Given the description of an element on the screen output the (x, y) to click on. 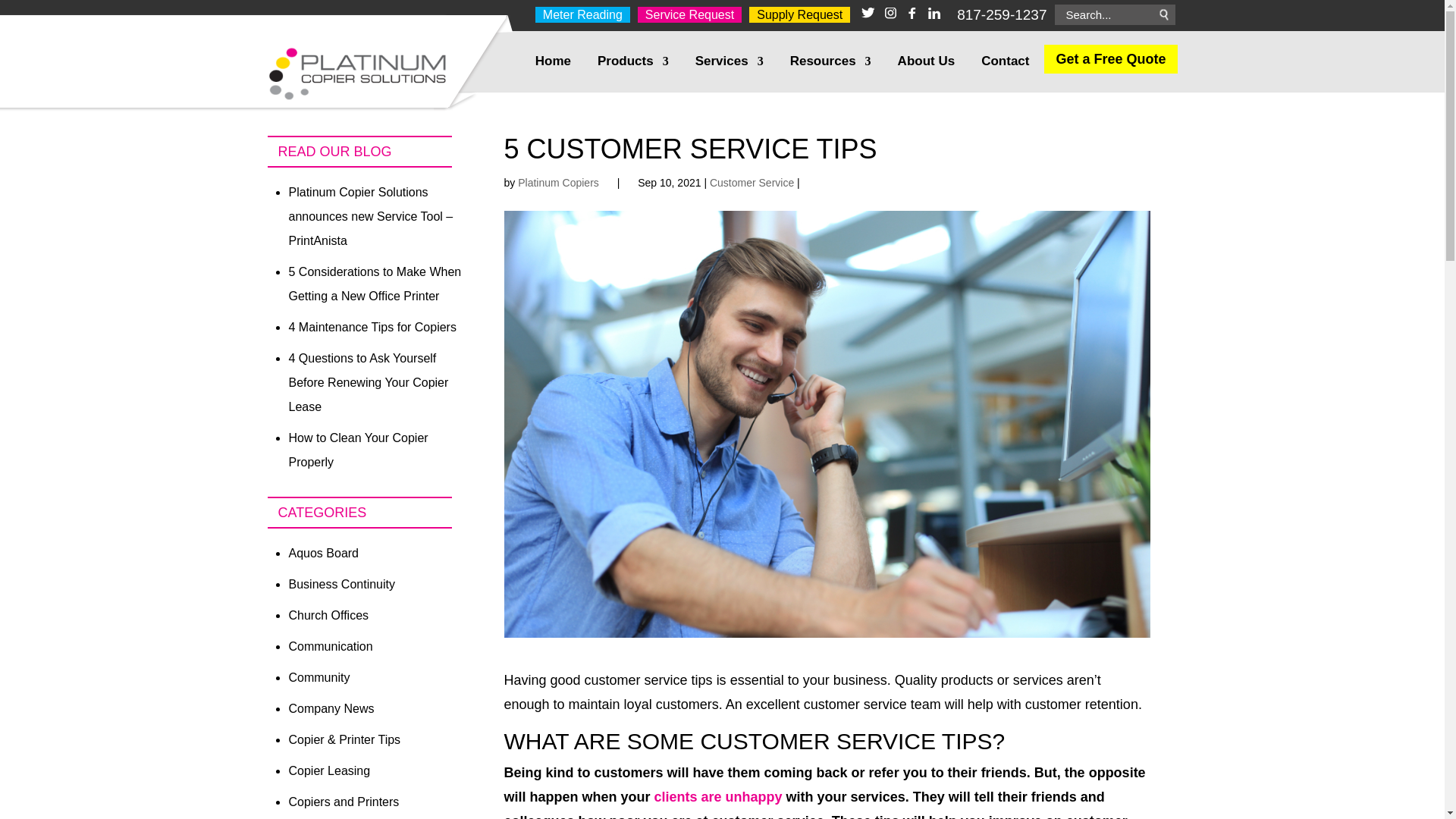
Posts by Platinum Copiers (558, 182)
Services (728, 73)
Home (552, 73)
Platinum Copiers (558, 182)
twitter (868, 14)
Search (1157, 14)
817-259-1237 (1001, 14)
Resources (830, 73)
linkdin (934, 14)
Get a Free Quote (1109, 59)
